Given the description of an element on the screen output the (x, y) to click on. 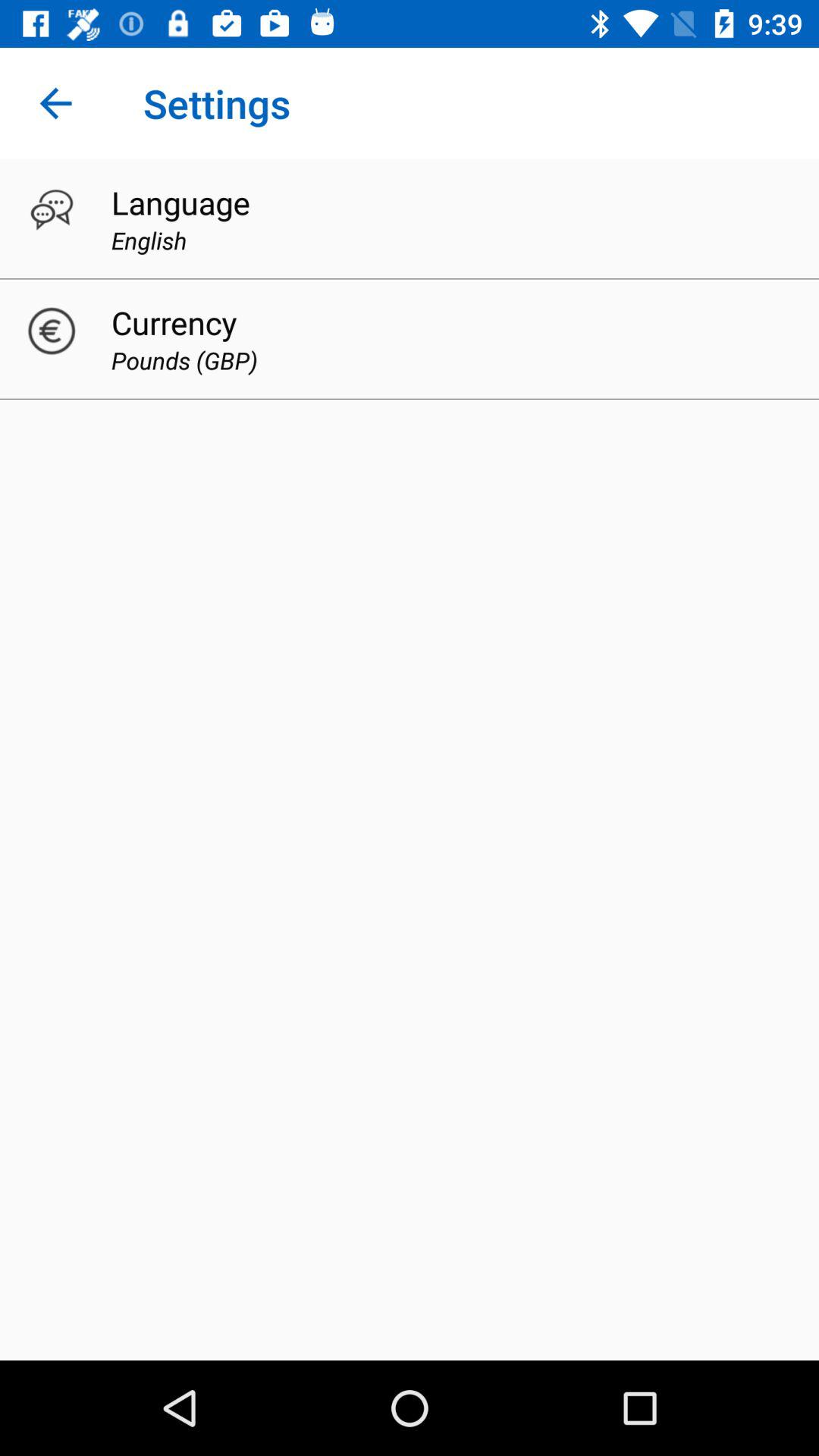
click item below the currency item (184, 360)
